Given the description of an element on the screen output the (x, y) to click on. 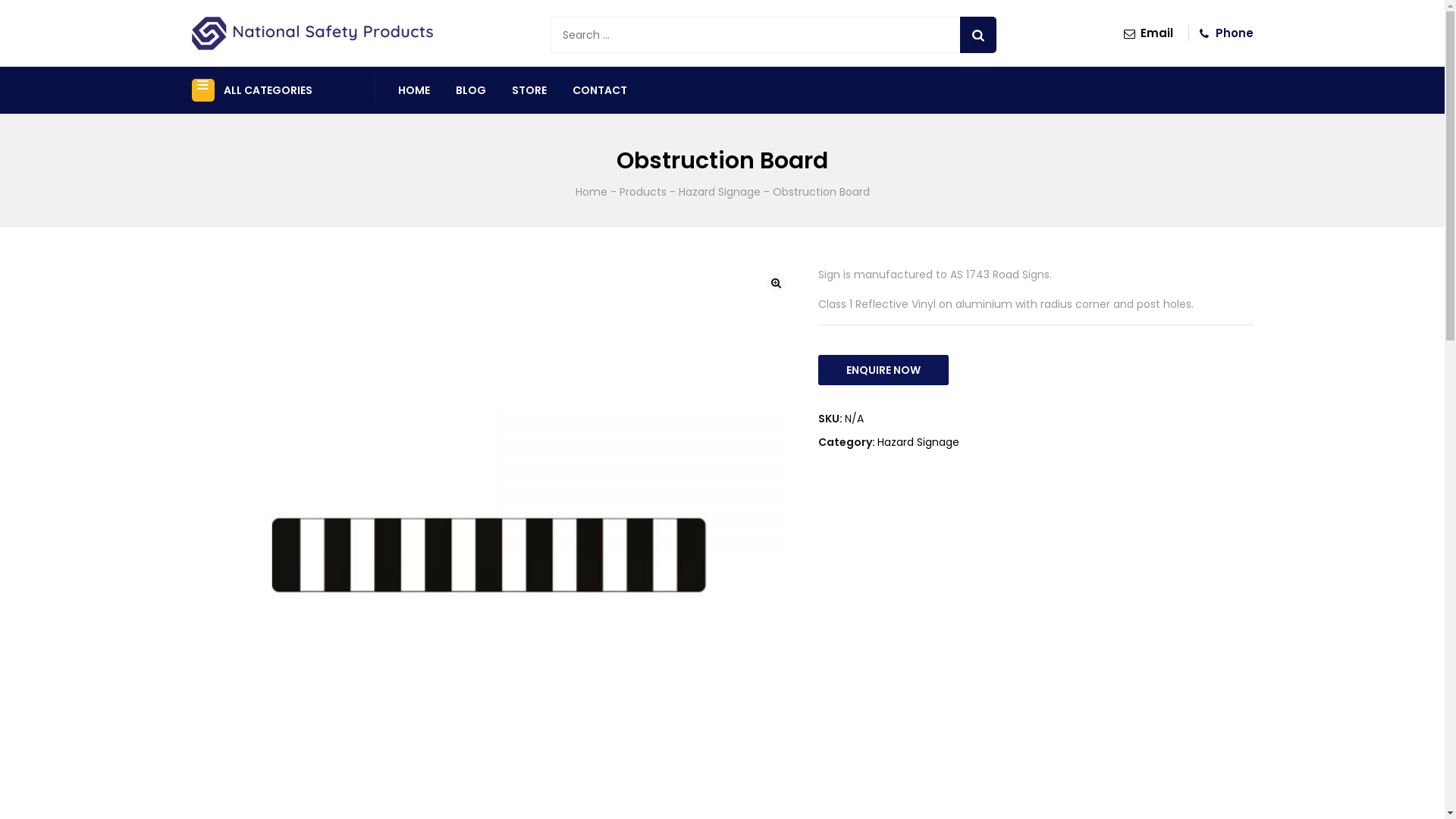
Home Element type: text (590, 191)
Email Element type: text (1146, 33)
Hazard Signage Element type: text (917, 441)
Hazard Signage Element type: text (718, 191)
Search Element type: text (978, 34)
STORE Element type: text (528, 89)
National Safety Products Element type: hover (311, 33)
Phone Element type: text (1223, 33)
HOME Element type: text (413, 89)
CONTACT Element type: text (599, 89)
BLOG Element type: text (470, 89)
ENQUIRE NOW Element type: text (882, 369)
Products Element type: text (641, 191)
